Given the description of an element on the screen output the (x, y) to click on. 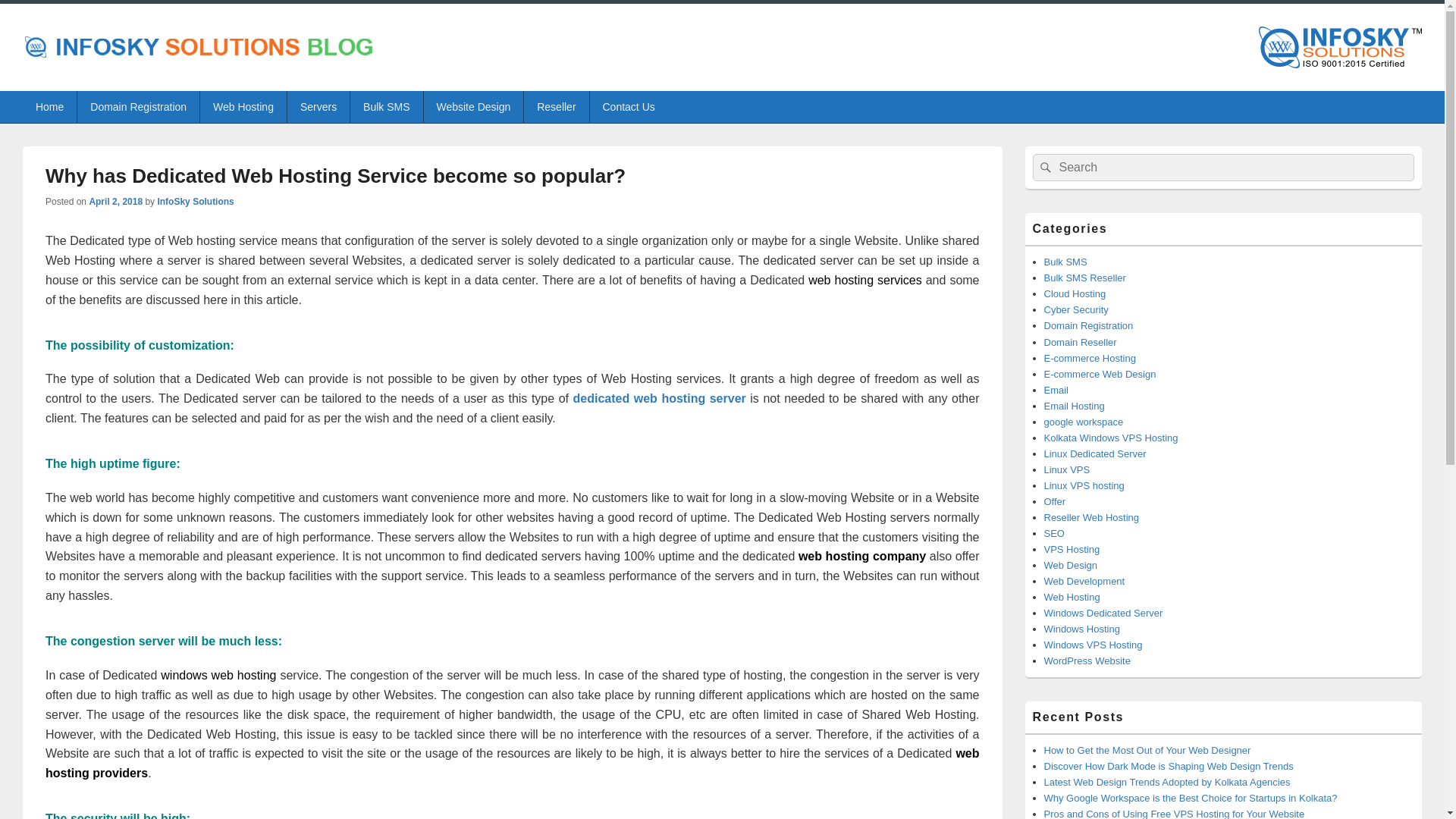
View all posts by InfoSky Solutions (194, 201)
Domain Registration (138, 106)
Website Design (472, 106)
Home (50, 106)
10:13 am (115, 201)
Bulk SMS (386, 106)
Reseller (556, 106)
Search for: (1223, 166)
April 2, 2018 (115, 201)
InfoSky Solutions (194, 201)
